Given the description of an element on the screen output the (x, y) to click on. 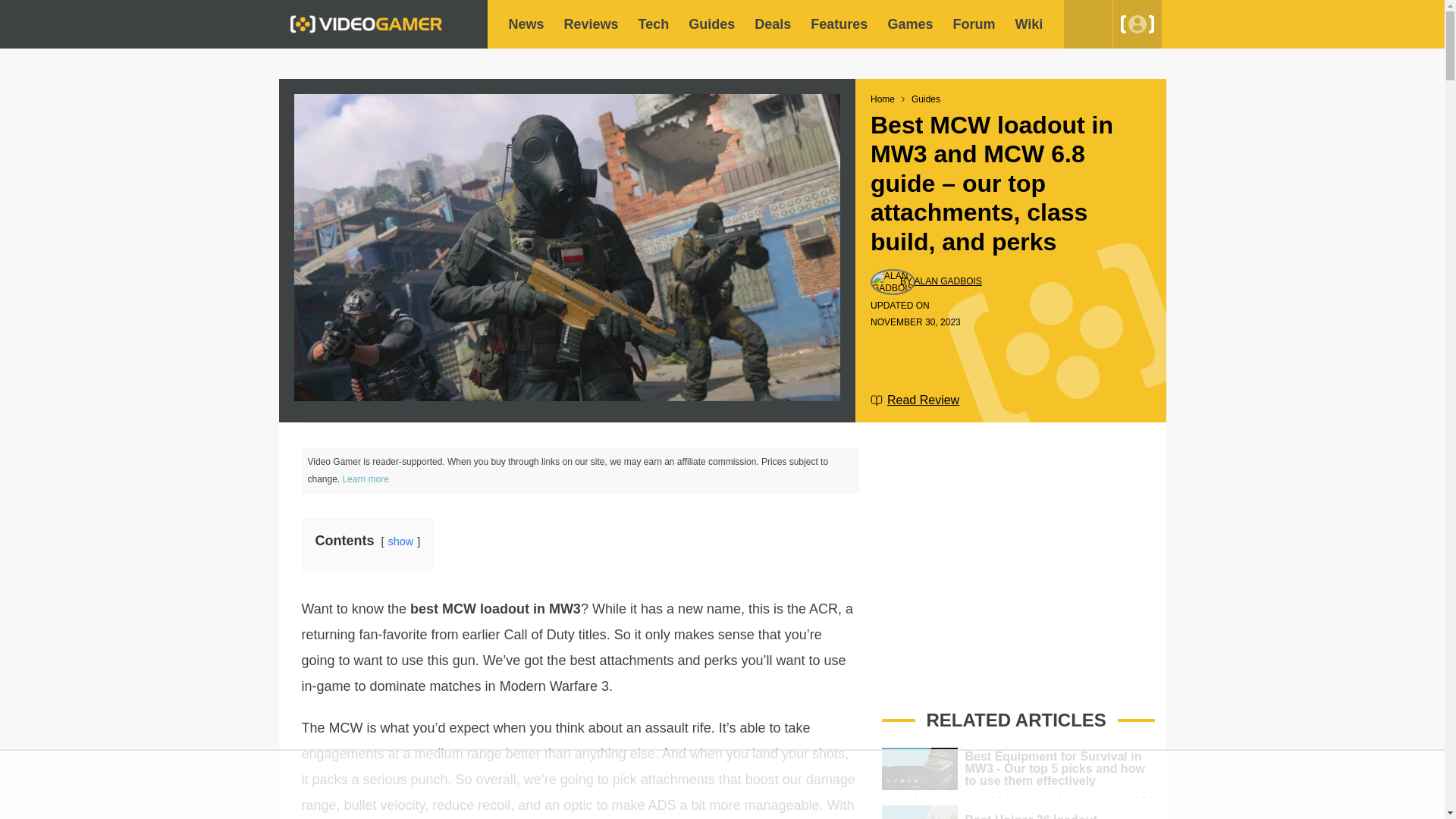
Guides (925, 99)
Deals (772, 24)
Home (882, 99)
Reviews (591, 24)
Learn more (365, 479)
Forum (973, 24)
Wiki (1028, 24)
News (526, 24)
Games (909, 24)
Reviews (591, 24)
Features (838, 24)
Guides (711, 24)
Read Review (914, 400)
Guides (711, 24)
